Given the description of an element on the screen output the (x, y) to click on. 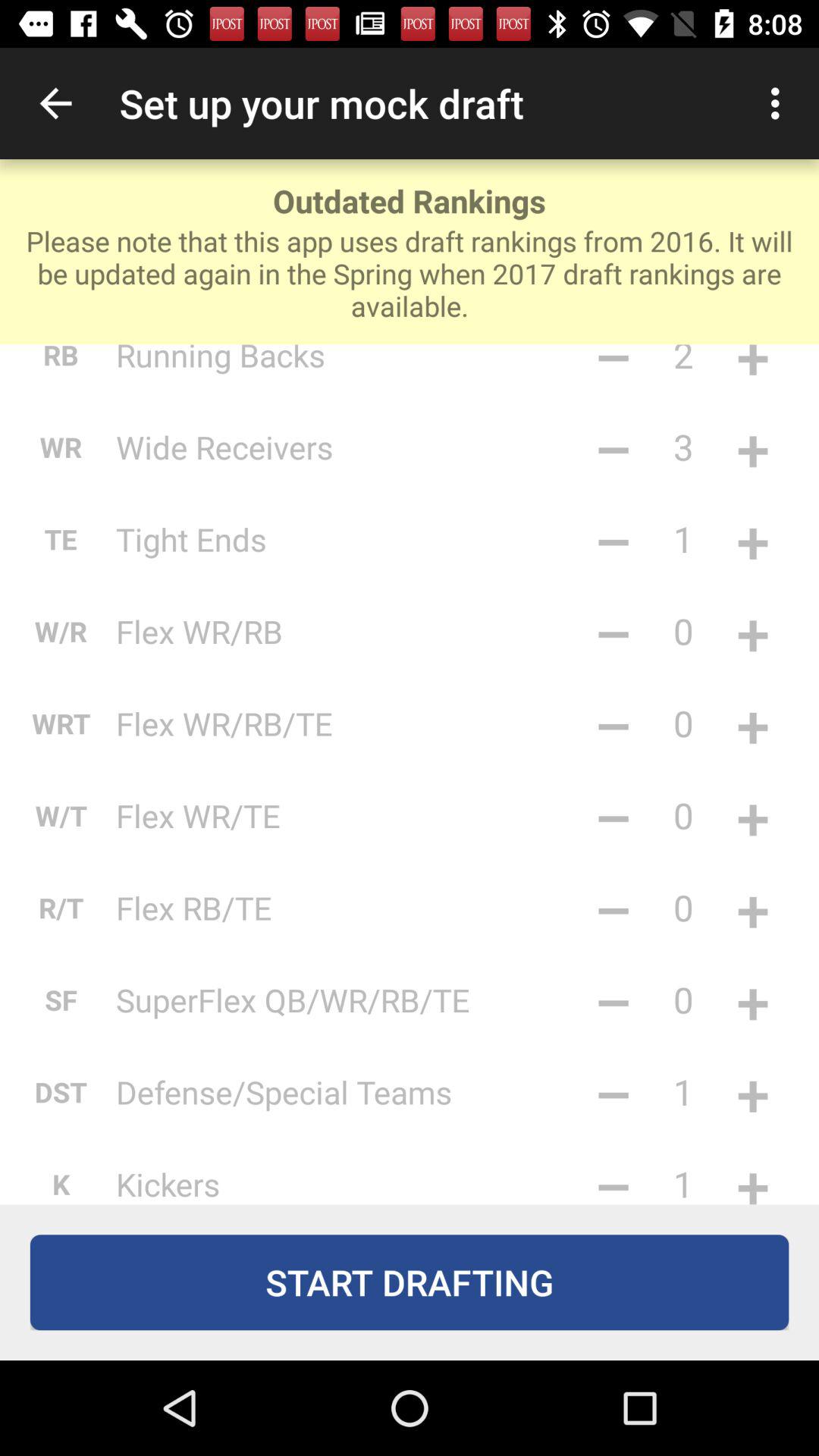
select icon above outdated rankings item (55, 103)
